Given the description of an element on the screen output the (x, y) to click on. 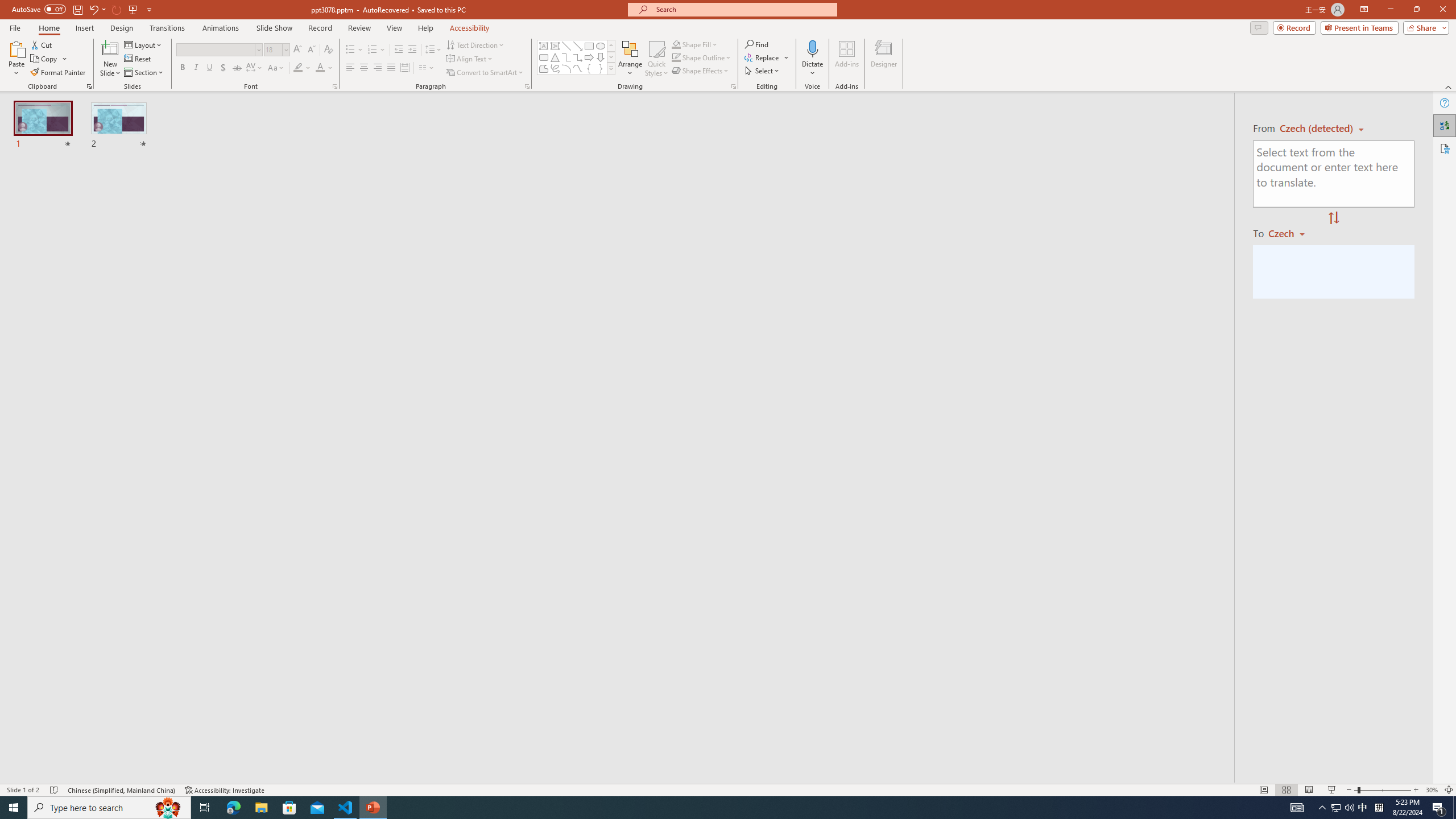
Shape Outline Green, Accent 1 (675, 56)
